Given the description of an element on the screen output the (x, y) to click on. 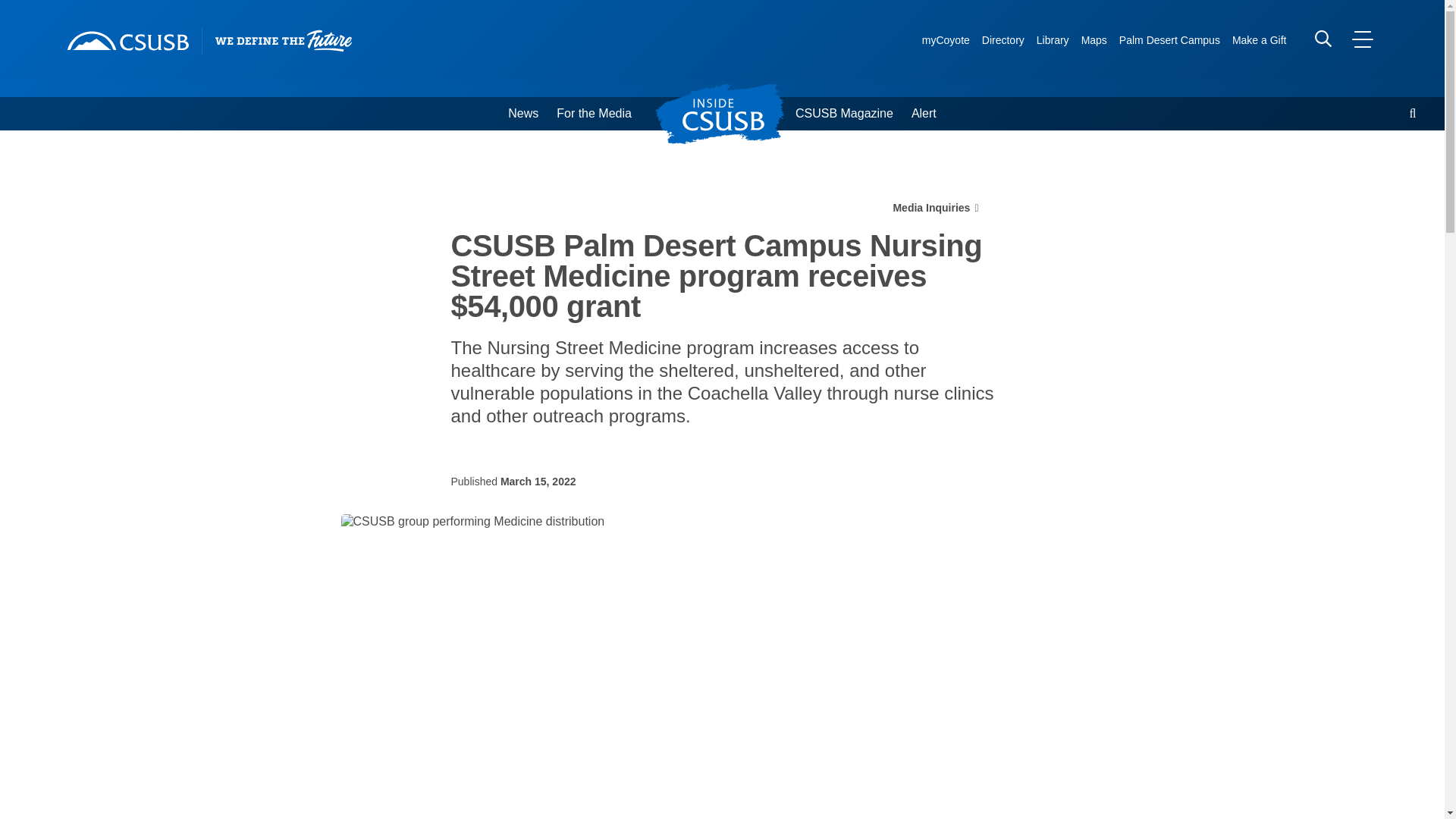
Home (126, 40)
Expand Inside Search (1412, 113)
Inside CSUSB home (727, 113)
Search CSUSB (1323, 38)
